Given the description of an element on the screen output the (x, y) to click on. 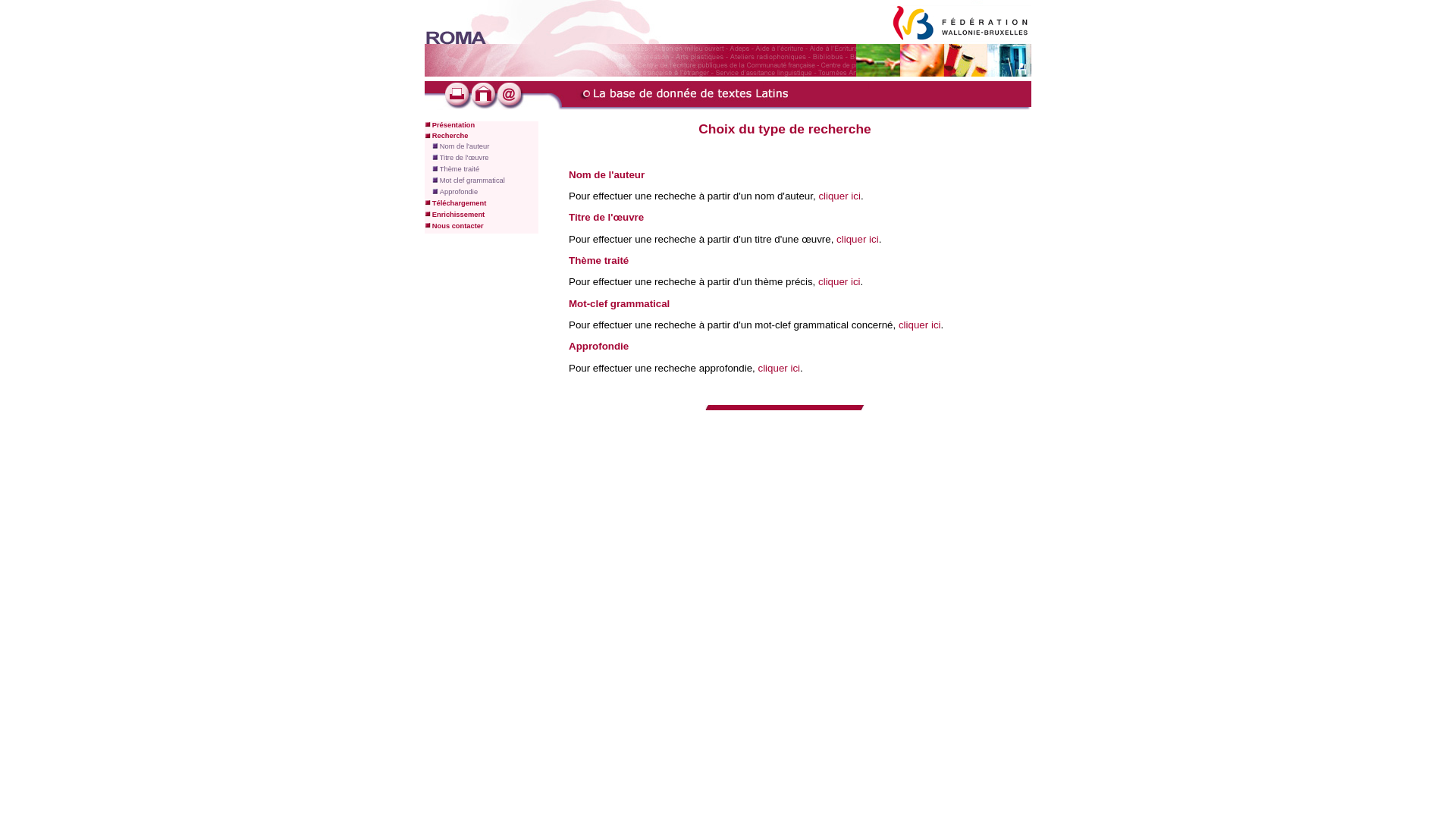
cliquer ici Element type: text (839, 195)
Nom de l'auteur Element type: text (464, 146)
cliquer ici Element type: text (778, 367)
Mot clef grammatical Element type: text (472, 180)
cliquer ici Element type: text (839, 281)
Approfondie Element type: text (458, 191)
cliquer ici Element type: text (857, 238)
Enrichissement Element type: text (458, 214)
Recherche Element type: text (450, 135)
cliquer ici Element type: text (919, 324)
Nous contacter Element type: text (457, 225)
